Given the description of an element on the screen output the (x, y) to click on. 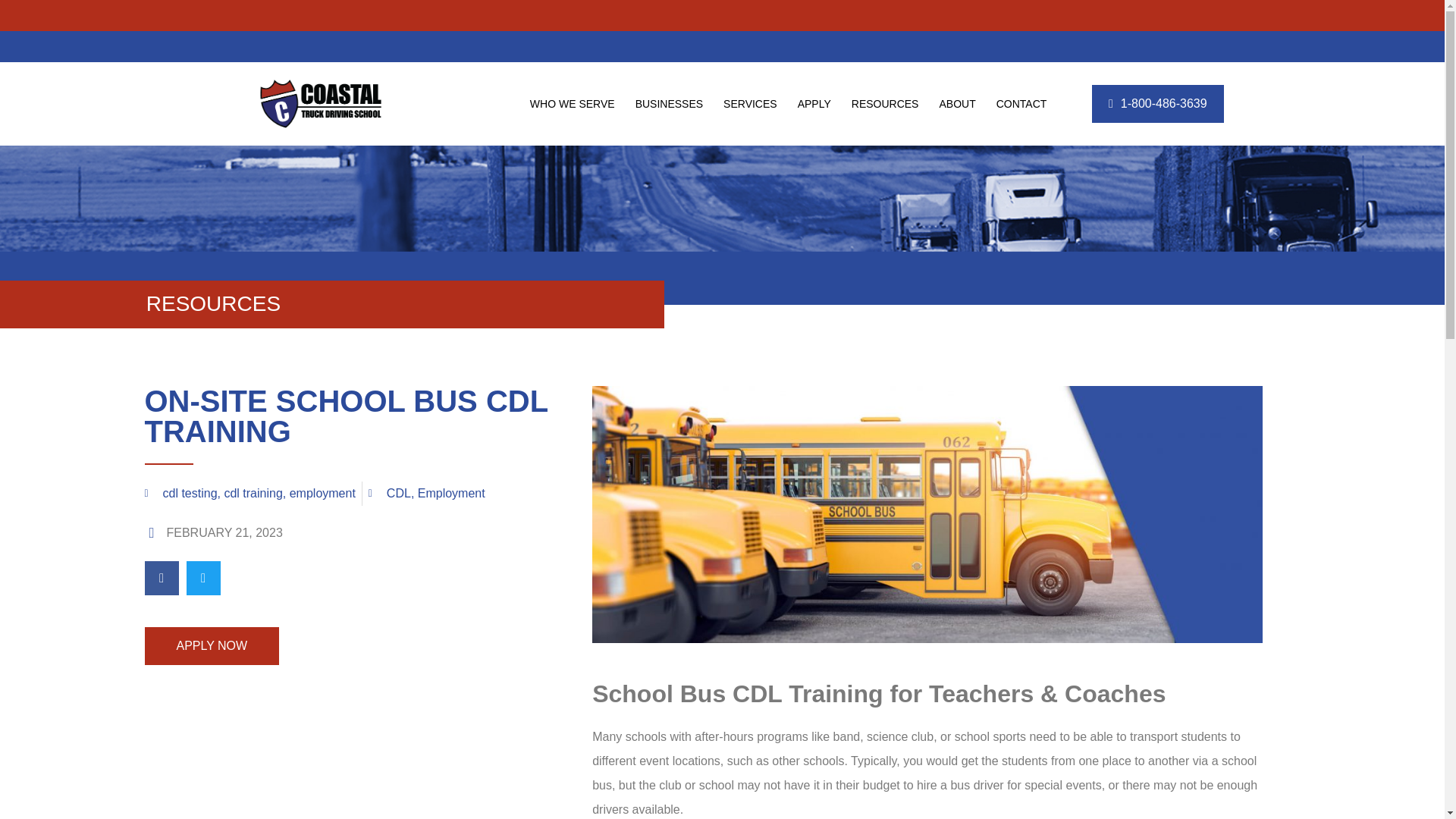
CONTACT (1021, 103)
SERVICES (750, 103)
ABOUT (957, 103)
RESOURCES (885, 103)
WHO WE SERVE (572, 103)
BUSINESSES (669, 103)
APPLY (814, 103)
